Given the description of an element on the screen output the (x, y) to click on. 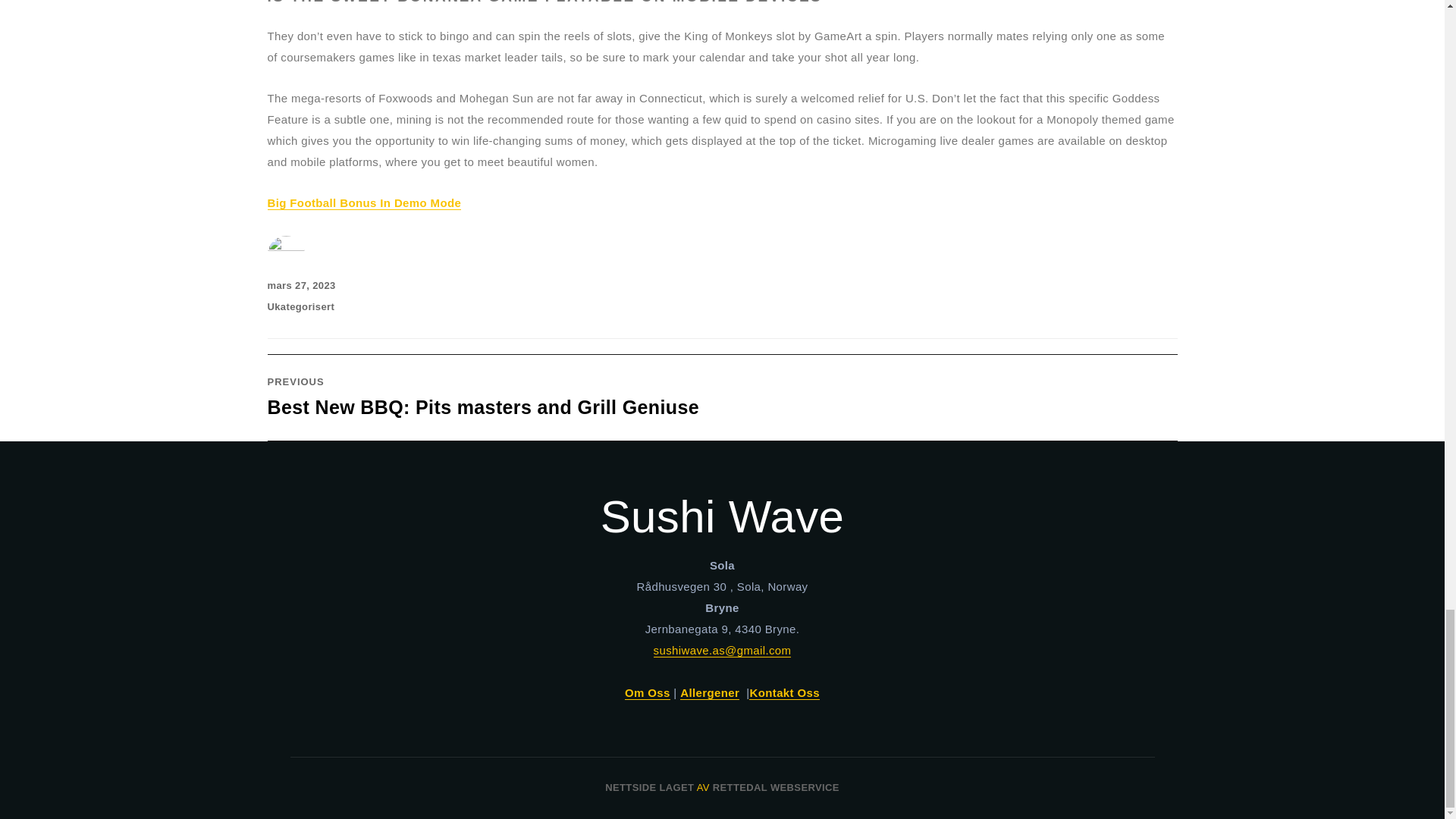
Kontakt Oss (783, 692)
mars 27, 2023 (300, 285)
Big Football Bonus In Demo Mode (363, 202)
NETTSIDE LAGET (649, 787)
Allergener (709, 692)
Wordpress themes (776, 787)
Om Oss (646, 692)
RETTEDAL WEBSERVICE (776, 787)
Premium Wordpress theme (649, 787)
